Given the description of an element on the screen output the (x, y) to click on. 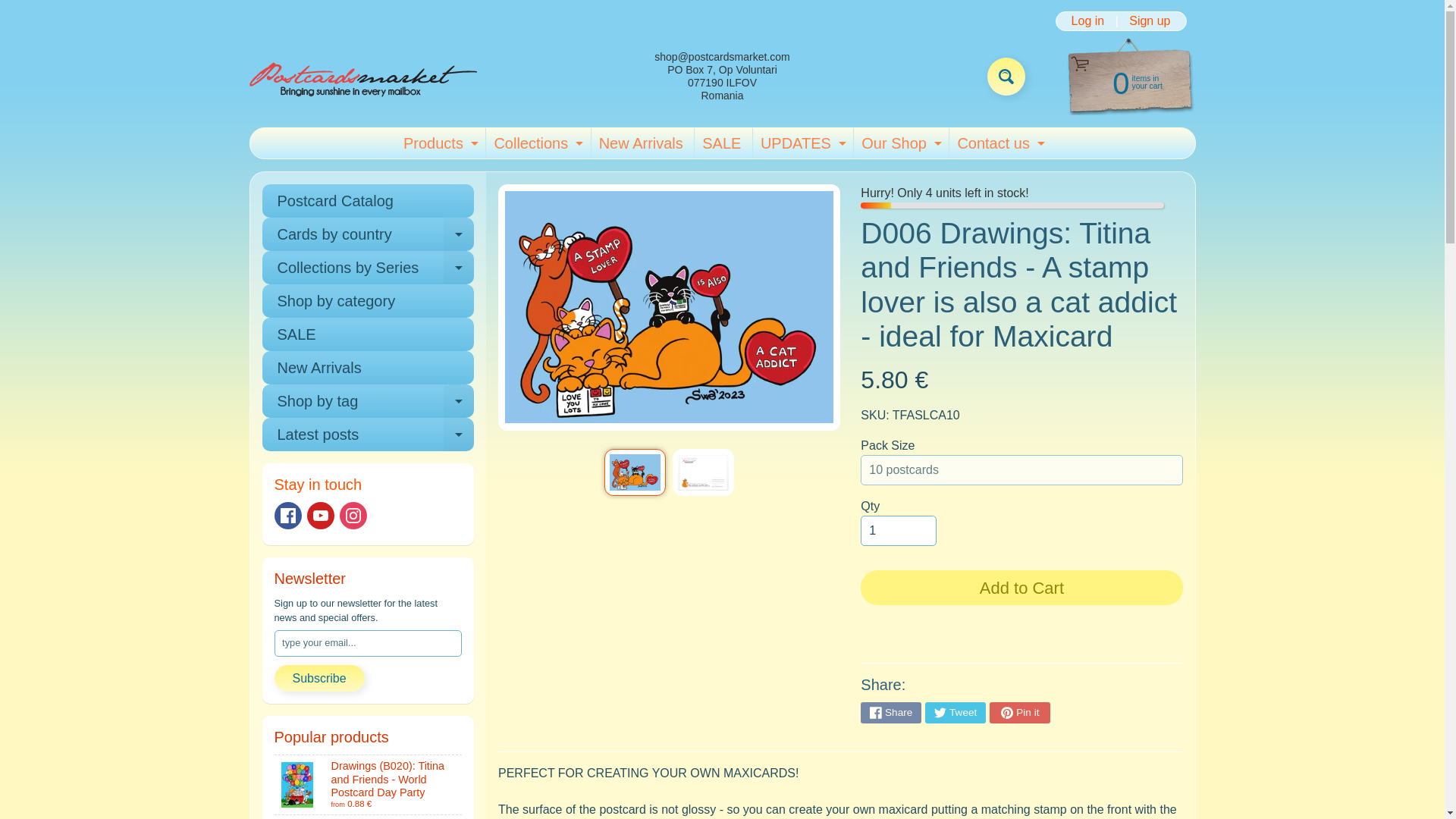
Search (801, 142)
Instagram (1006, 76)
New Arrivals (352, 515)
Sign up (640, 142)
Search (1149, 21)
Postcards Market (1006, 76)
SALE (362, 76)
1 (721, 142)
